Given the description of an element on the screen output the (x, y) to click on. 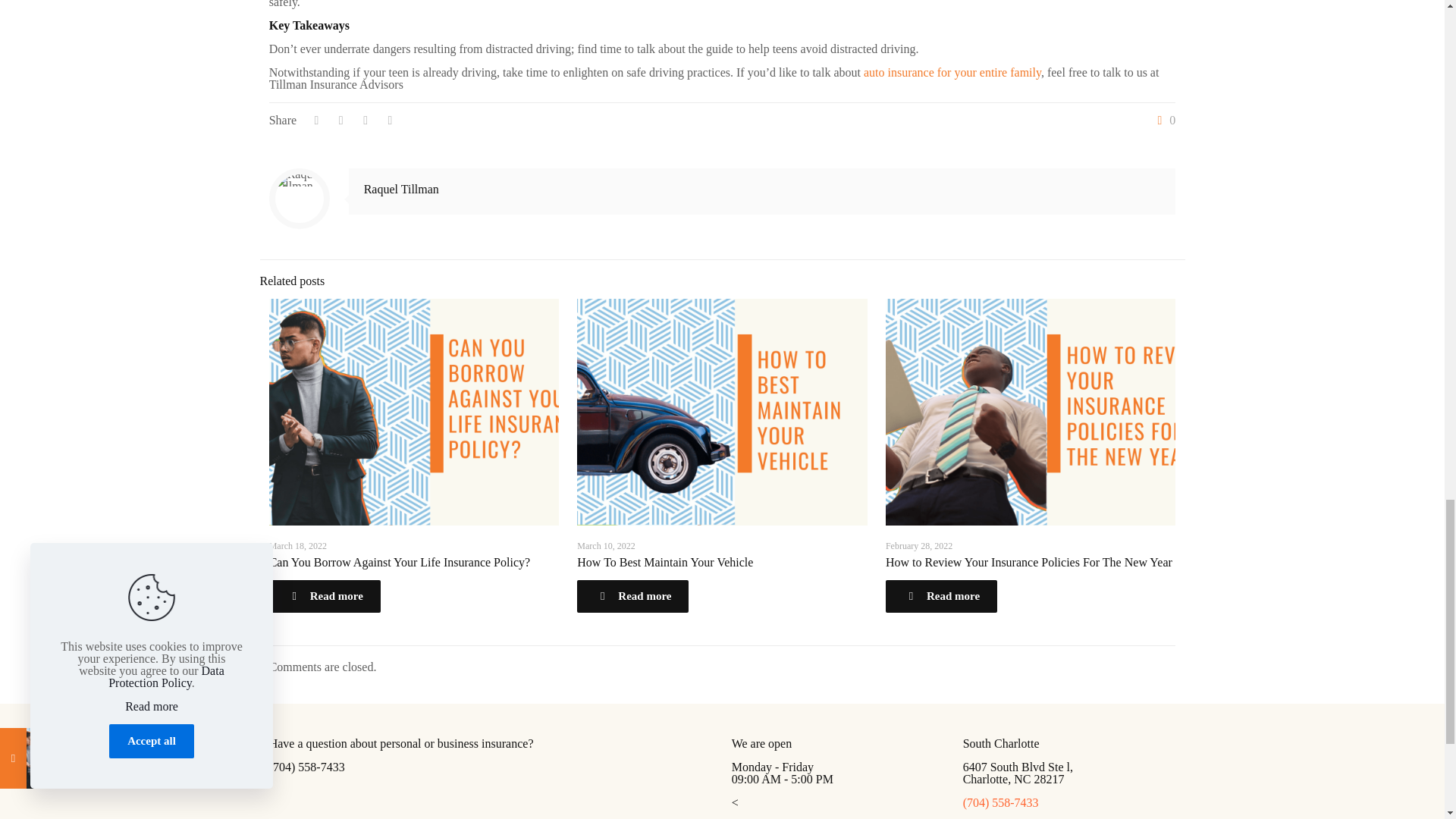
0 (1162, 120)
auto insurance for your entire family (952, 72)
